Given the description of an element on the screen output the (x, y) to click on. 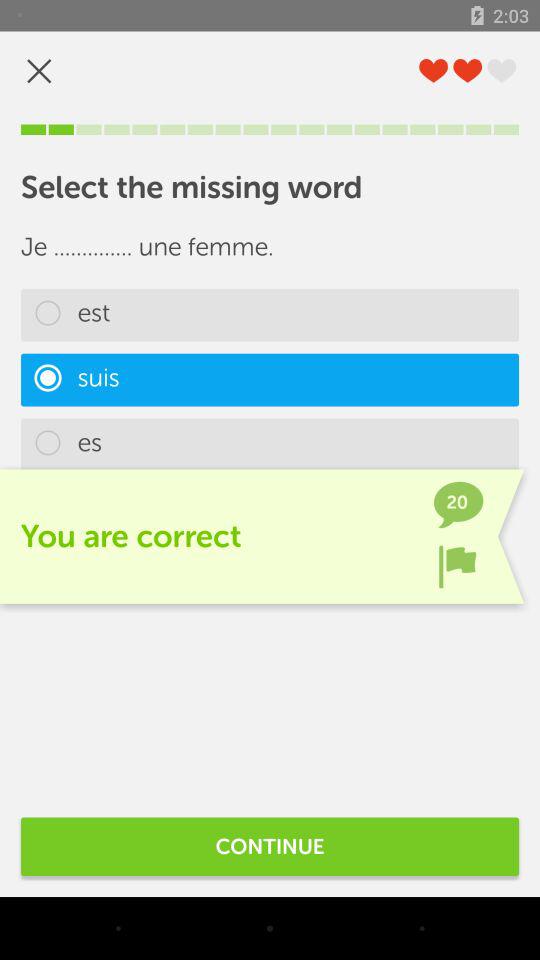
turn on the est item (270, 314)
